Given the description of an element on the screen output the (x, y) to click on. 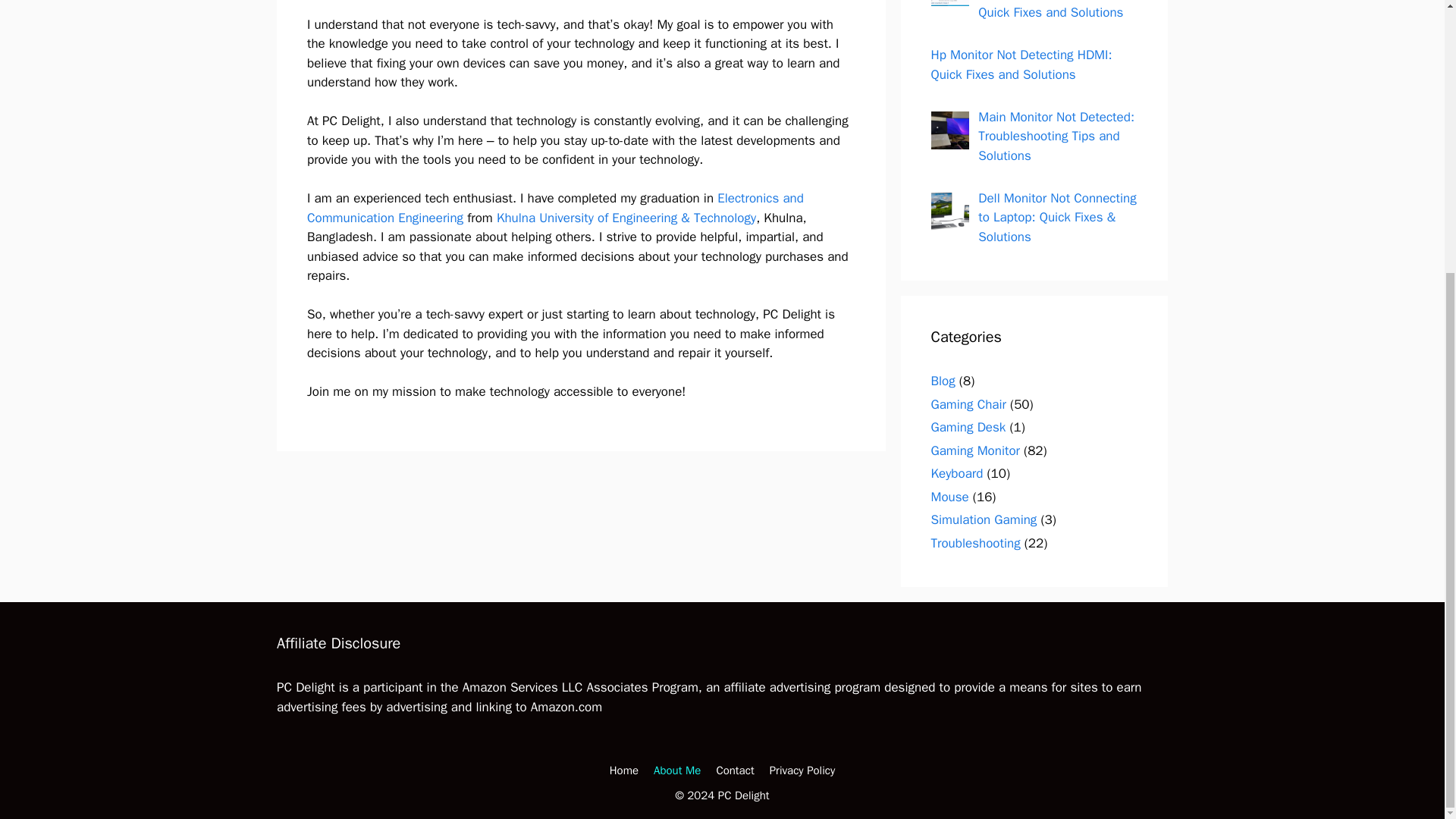
Blog (943, 381)
Hp Monitor Not Detecting HDMI: Quick Fixes and Solutions (1021, 64)
Home (624, 770)
Privacy Policy (802, 770)
Gaming Chair (968, 403)
Contact (735, 770)
Mouse (950, 496)
Electronics and Communication Engineering (555, 208)
Troubleshooting (975, 543)
Keyboard (957, 473)
